Given the description of an element on the screen output the (x, y) to click on. 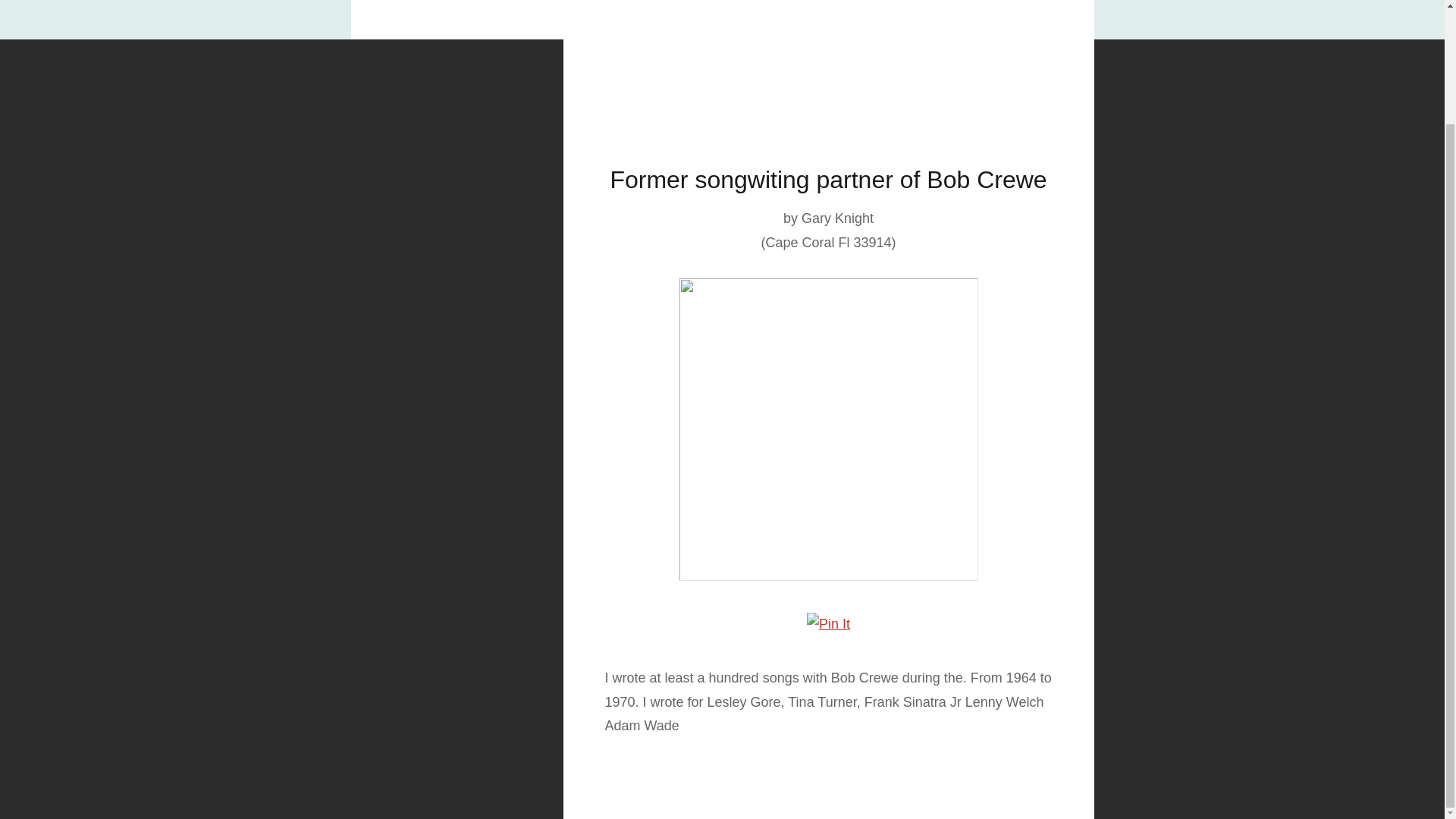
Pin It (828, 623)
